Given the description of an element on the screen output the (x, y) to click on. 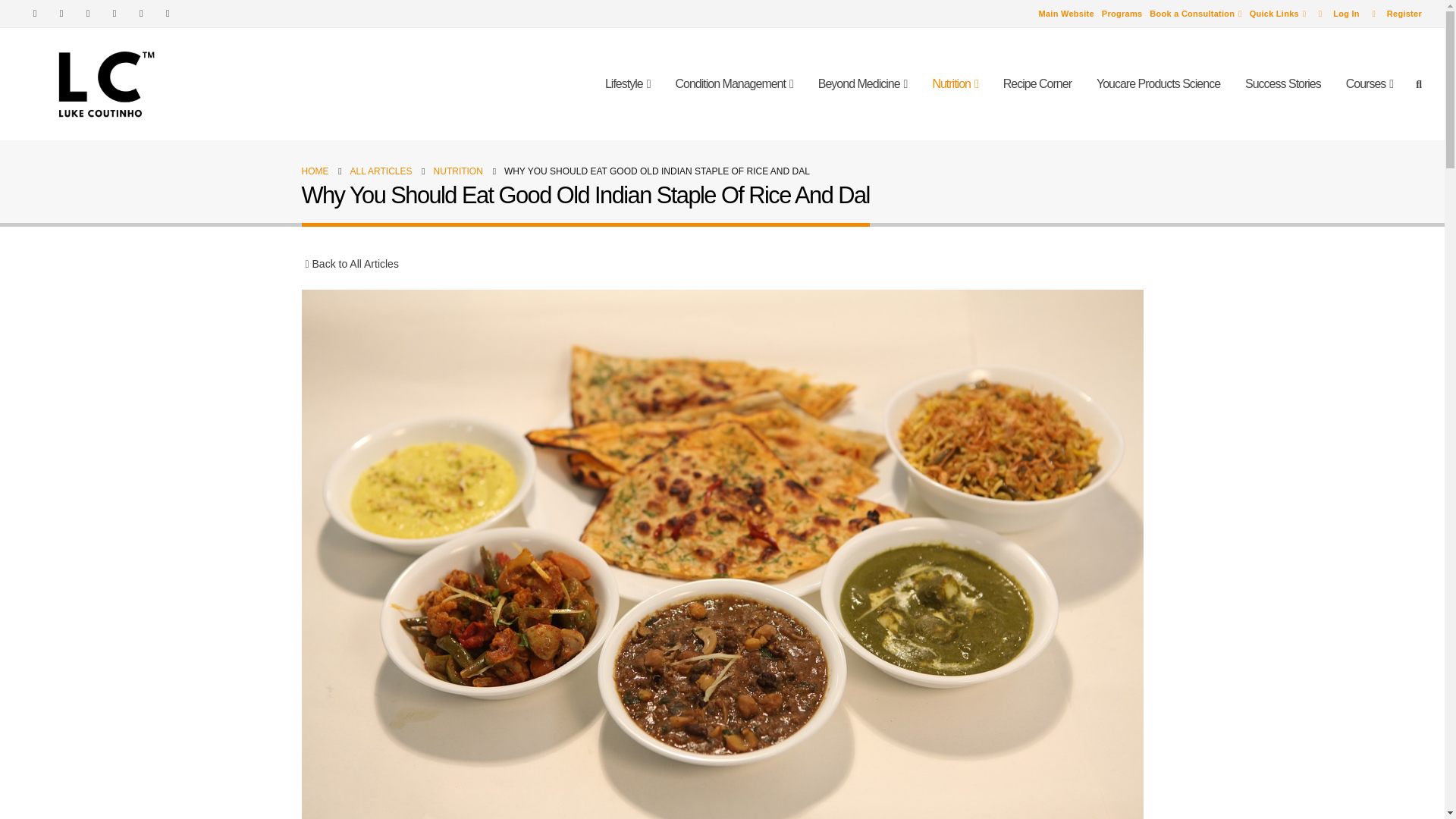
LinkedIn (167, 13)
Register (1392, 13)
Youcare Products Science (1157, 84)
Instagram (140, 13)
Facebook (34, 13)
Book a Consultation (1194, 13)
Programs (1121, 13)
Pinterest (88, 13)
Recipe Corner (1037, 84)
Beyond Medicine (863, 84)
Youtube (114, 13)
Quick Links (1278, 13)
Condition Management (734, 84)
Main Website (1066, 13)
Twitter (60, 13)
